Given the description of an element on the screen output the (x, y) to click on. 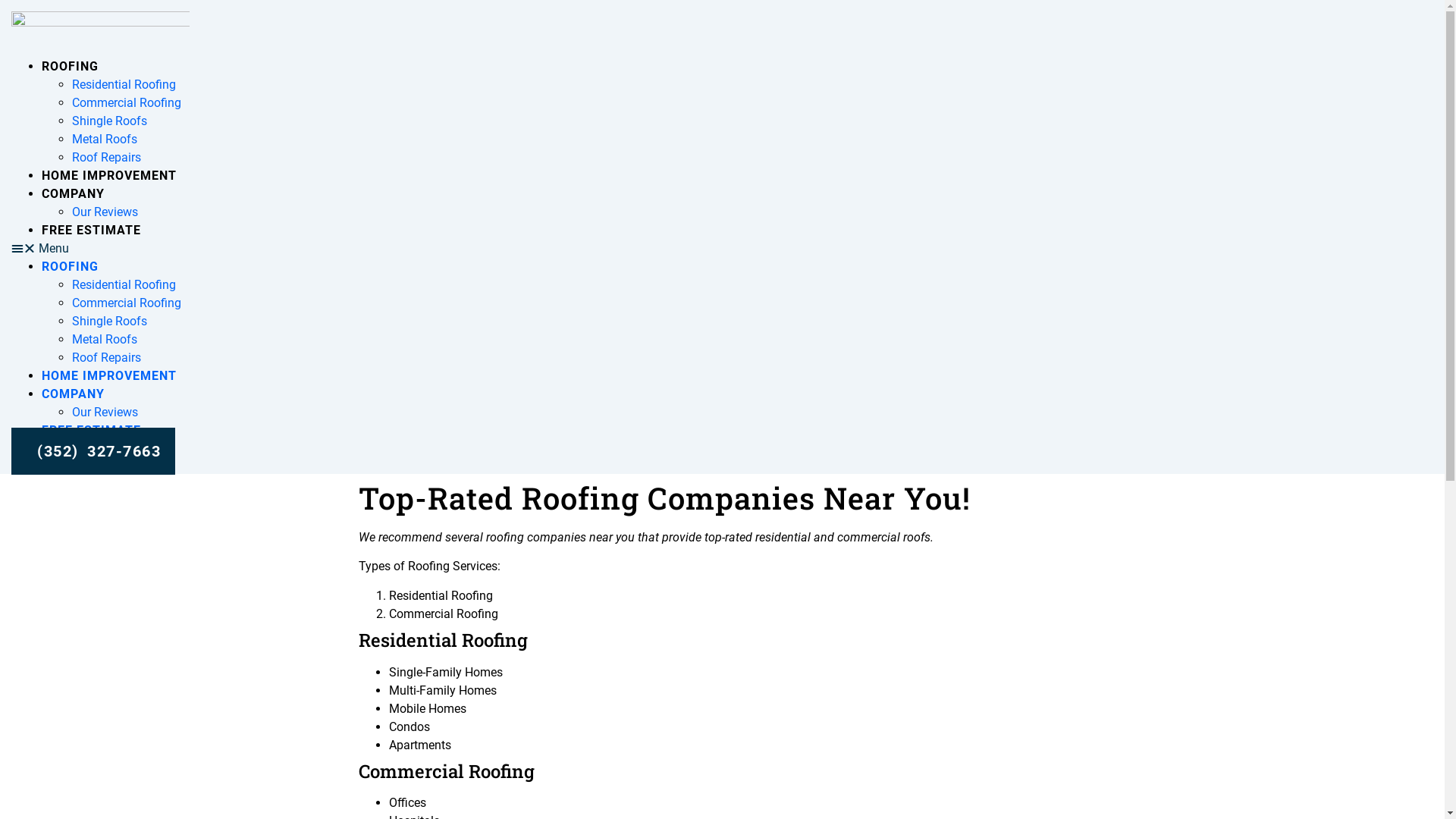
Commercial Roofing Element type: text (126, 302)
Residential Roofing Element type: text (123, 284)
FREE ESTIMATE Element type: text (91, 430)
HOME IMPROVEMENT Element type: text (108, 175)
Our Reviews Element type: text (105, 411)
(352) 327-7663 Element type: text (93, 450)
Residential Roofing Element type: text (123, 84)
Our Reviews Element type: text (105, 211)
ROOFING Element type: text (69, 66)
FREE ESTIMATE Element type: text (91, 229)
Roof Repairs Element type: text (106, 157)
Metal Roofs Element type: text (104, 339)
COMPANY Element type: text (72, 193)
COMPANY Element type: text (72, 393)
Commercial Roofing Element type: text (126, 102)
Metal Roofs Element type: text (104, 138)
Roof Repairs Element type: text (106, 357)
Shingle Roofs Element type: text (109, 320)
HOME IMPROVEMENT Element type: text (108, 375)
Shingle Roofs Element type: text (109, 120)
ROOFING Element type: text (69, 266)
